Given the description of an element on the screen output the (x, y) to click on. 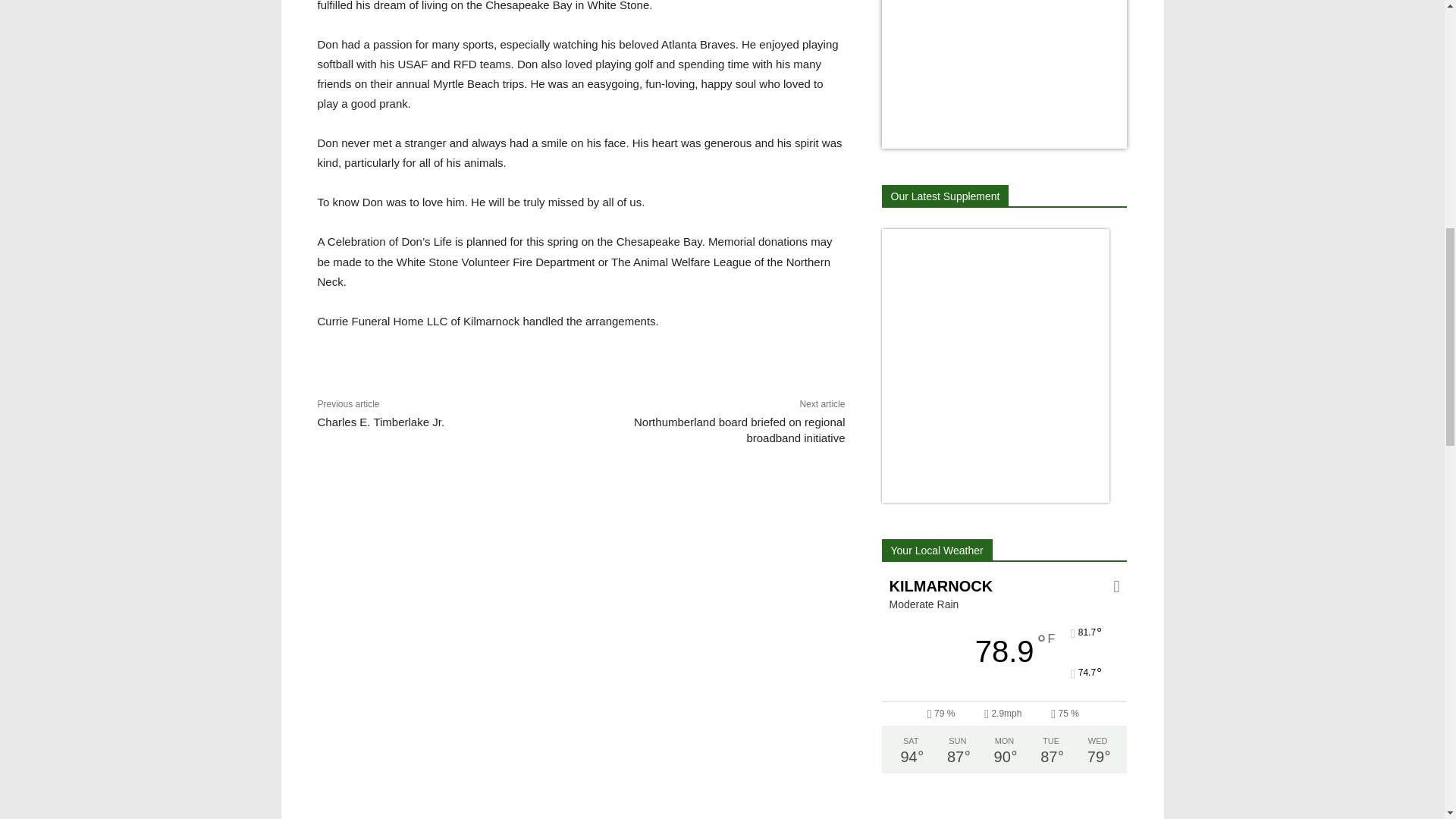
Our Latest Supplement (944, 195)
Charles E. Timberlake Jr. (380, 421)
